Given the description of an element on the screen output the (x, y) to click on. 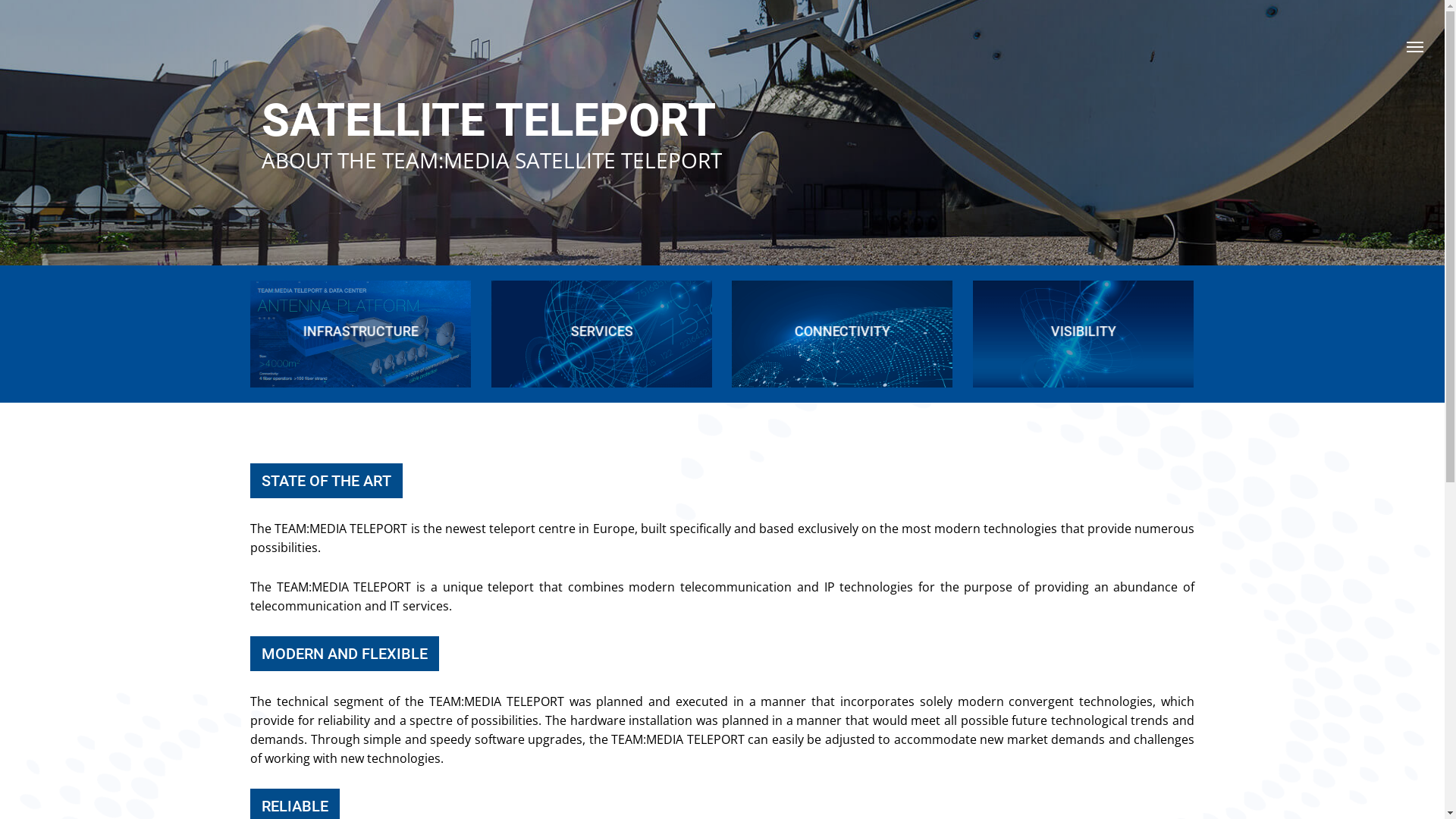
READ MORE
READ MORE Element type: text (602, 330)
READ MORE
READ MORE Element type: text (360, 330)
READ MORE
READ MORE Element type: text (1083, 330)
READ MORE
READ MORE Element type: text (842, 330)
